Given the description of an element on the screen output the (x, y) to click on. 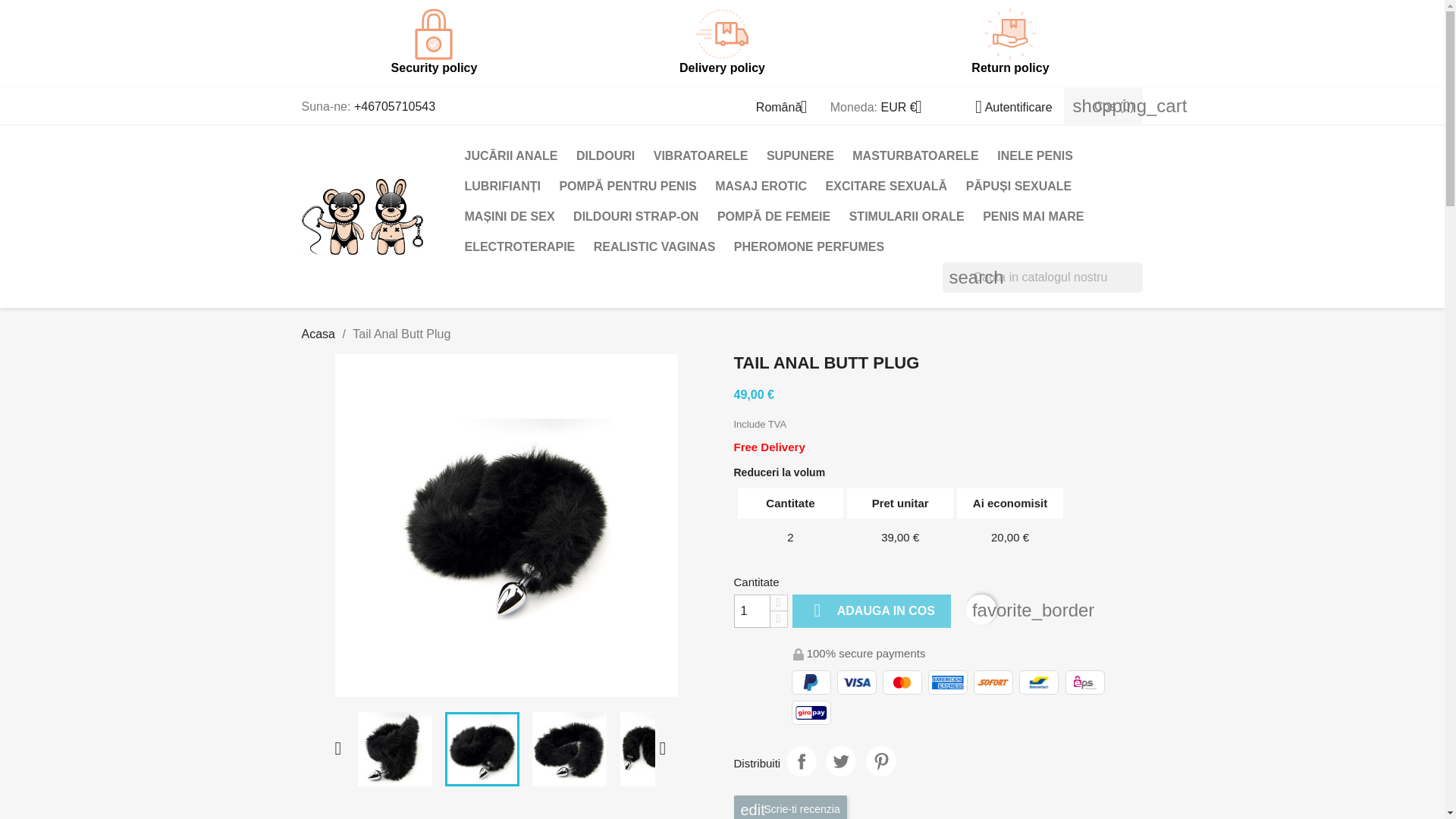
1 (751, 611)
